Given the description of an element on the screen output the (x, y) to click on. 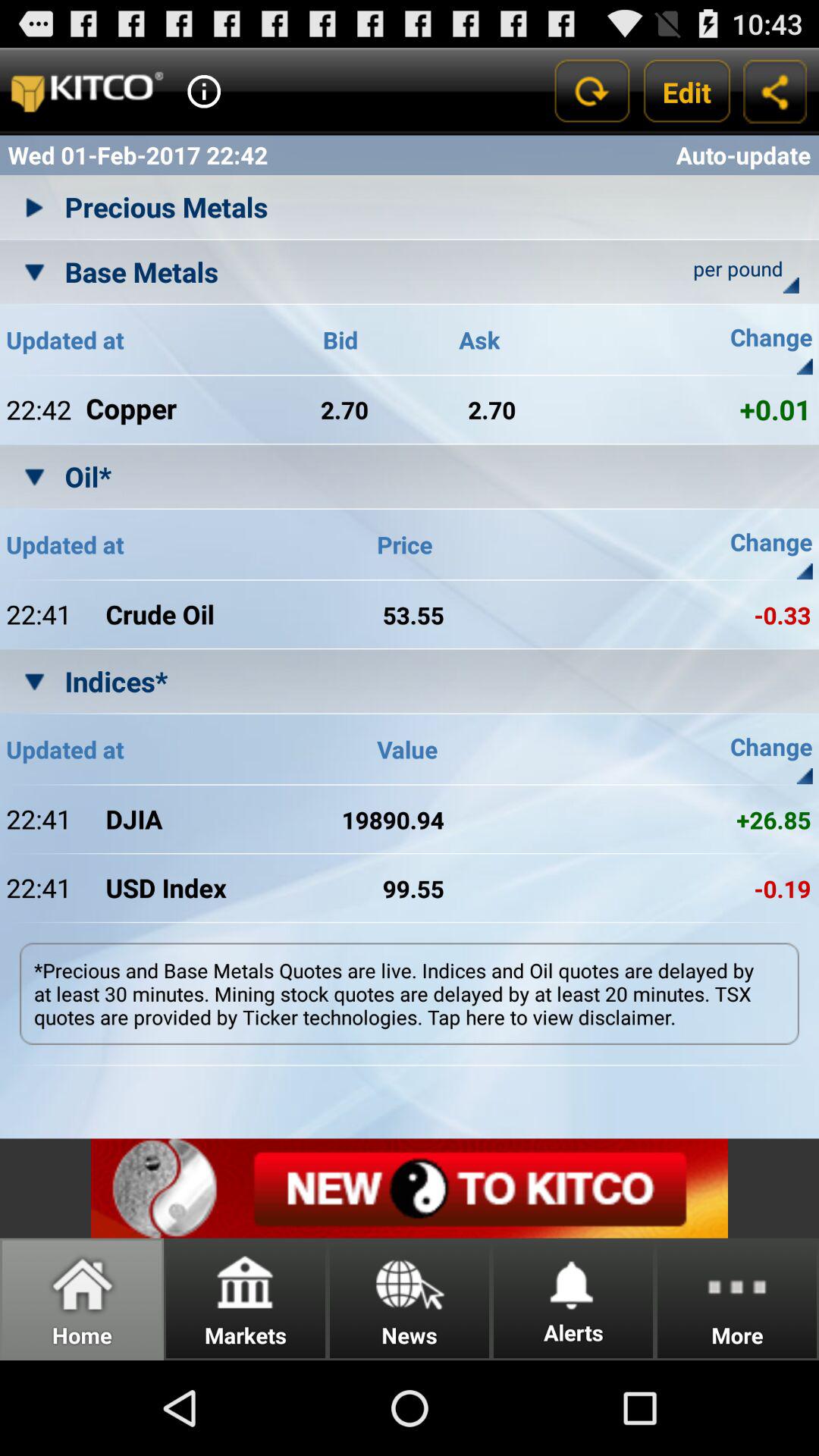
go to news application (409, 1188)
